Given the description of an element on the screen output the (x, y) to click on. 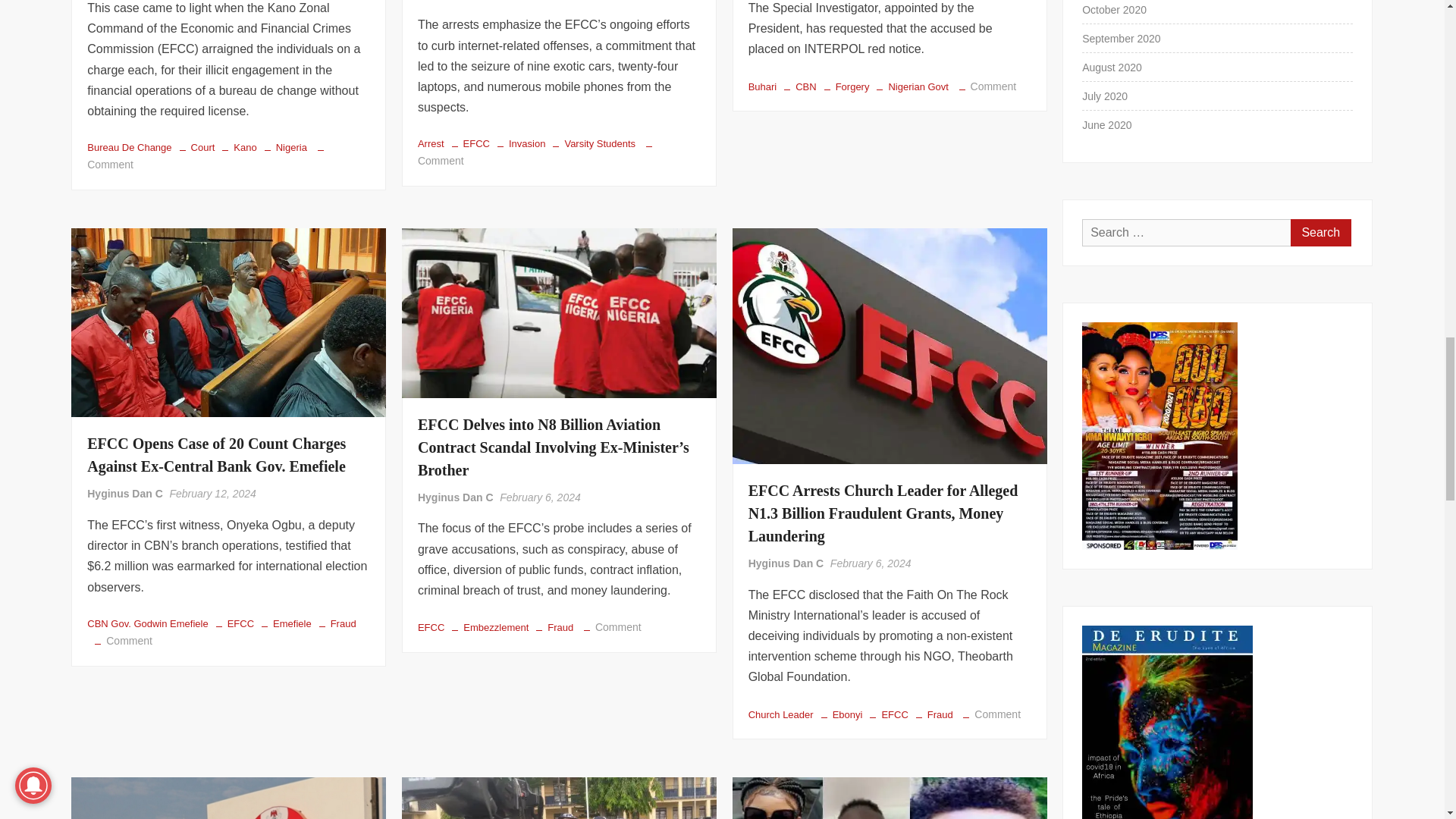
Search (1320, 232)
Search (1320, 232)
